Given the description of an element on the screen output the (x, y) to click on. 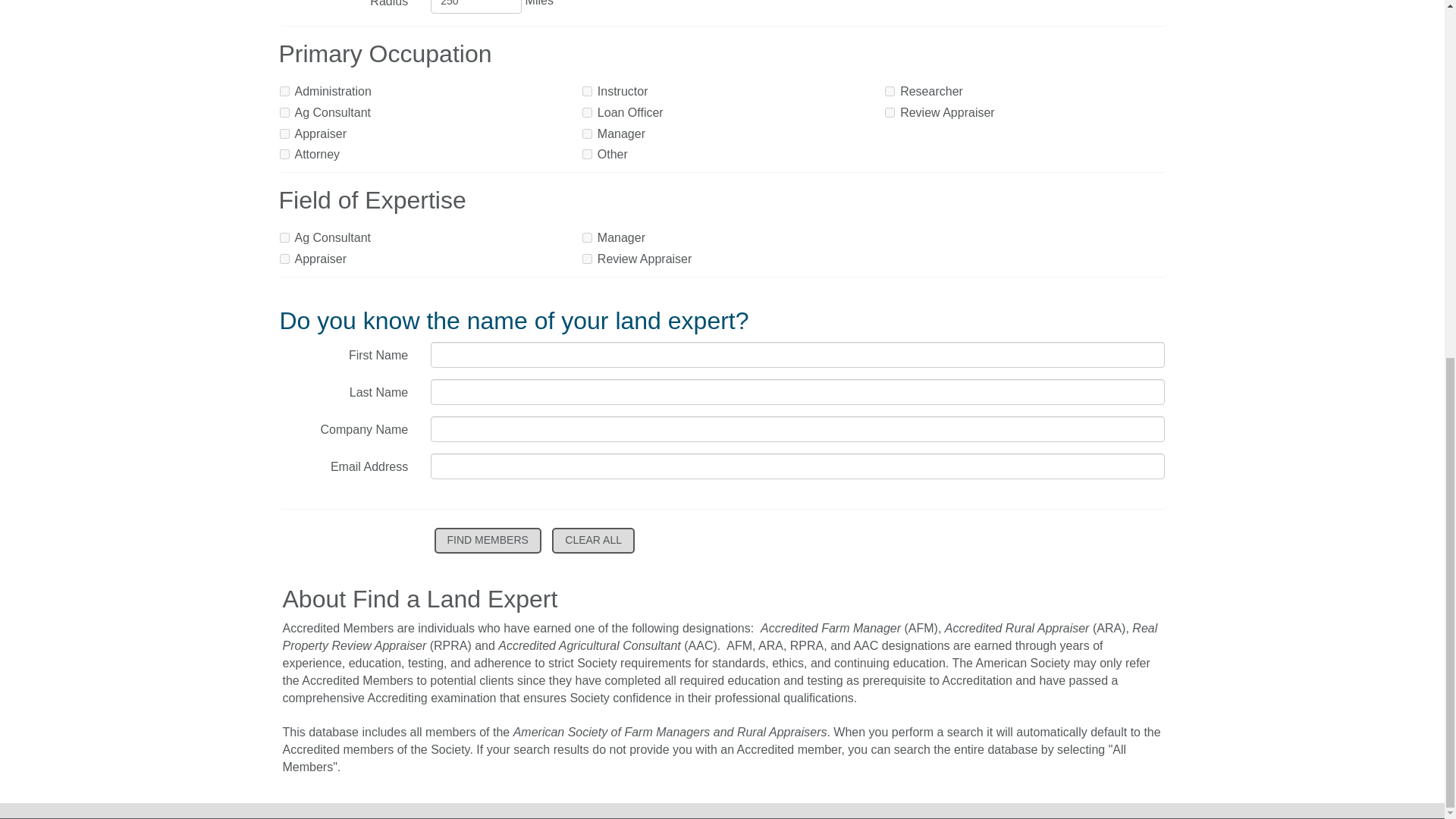
Clear All (592, 540)
250 (475, 6)
12620874-3306-4511-9768-9b03f4109a2a (283, 112)
Appraiser (283, 258)
Last Name (797, 391)
Researcher (890, 91)
dc244720-aa31-4129-9583-82c203a92777 (587, 258)
Appraiser (283, 133)
Ag Consultant (283, 112)
First Name (797, 354)
90af4fce-a4f3-4737-8b67-fde7dc3547d1 (587, 112)
Attorney (283, 153)
Ag Consultant (283, 237)
505093be-3095-4460-a465-3a157f27a659 (890, 112)
5a3a72fa-5846-4165-97ad-8eb5d79ff136 (283, 153)
